Given the description of an element on the screen output the (x, y) to click on. 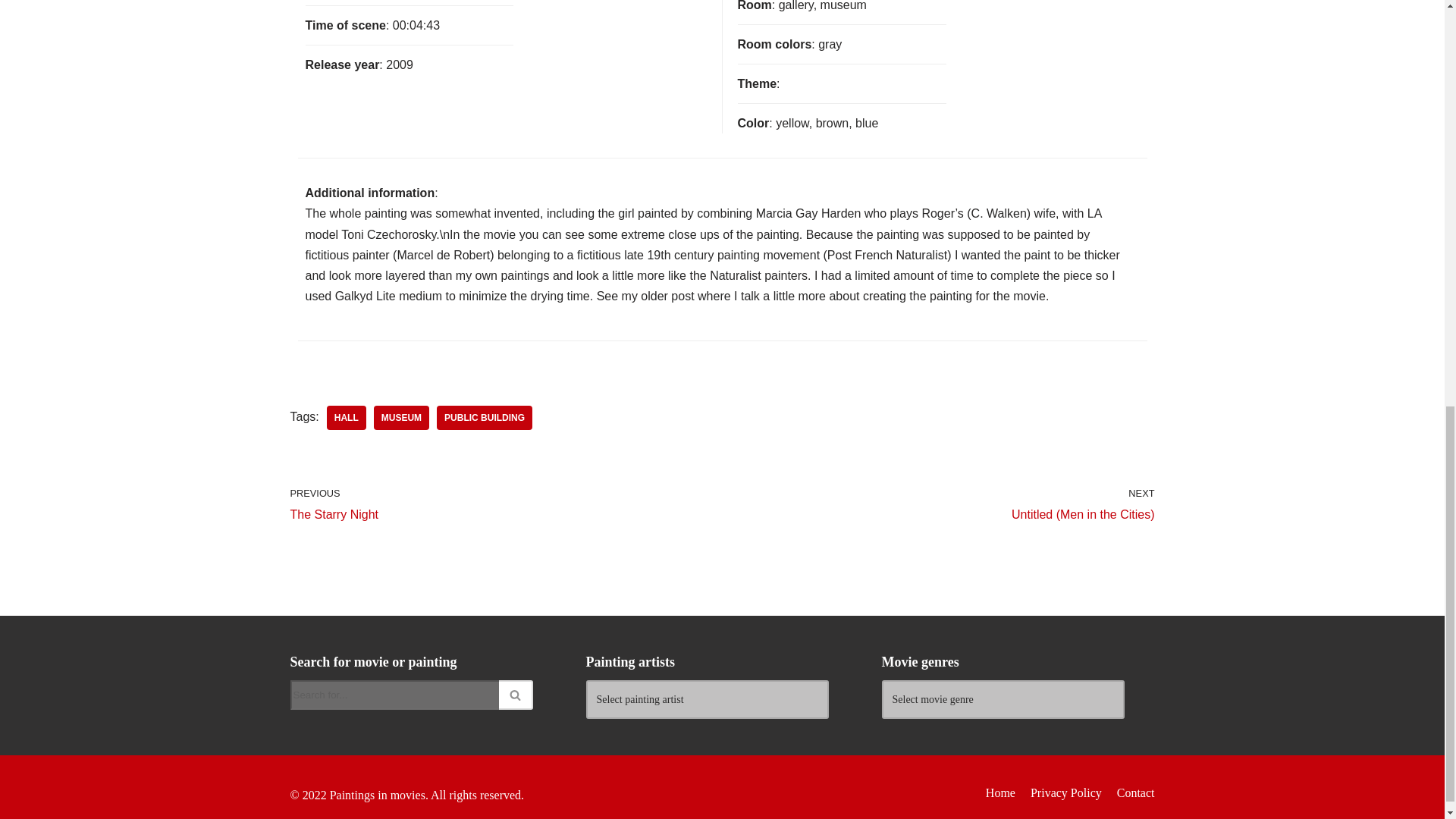
PUBLIC BUILDING (501, 503)
HALL (484, 417)
MUSEUM (346, 417)
Contact (401, 417)
Privacy Policy (1135, 792)
Home (1066, 792)
public building (999, 792)
hall (484, 417)
museum (346, 417)
